Given the description of an element on the screen output the (x, y) to click on. 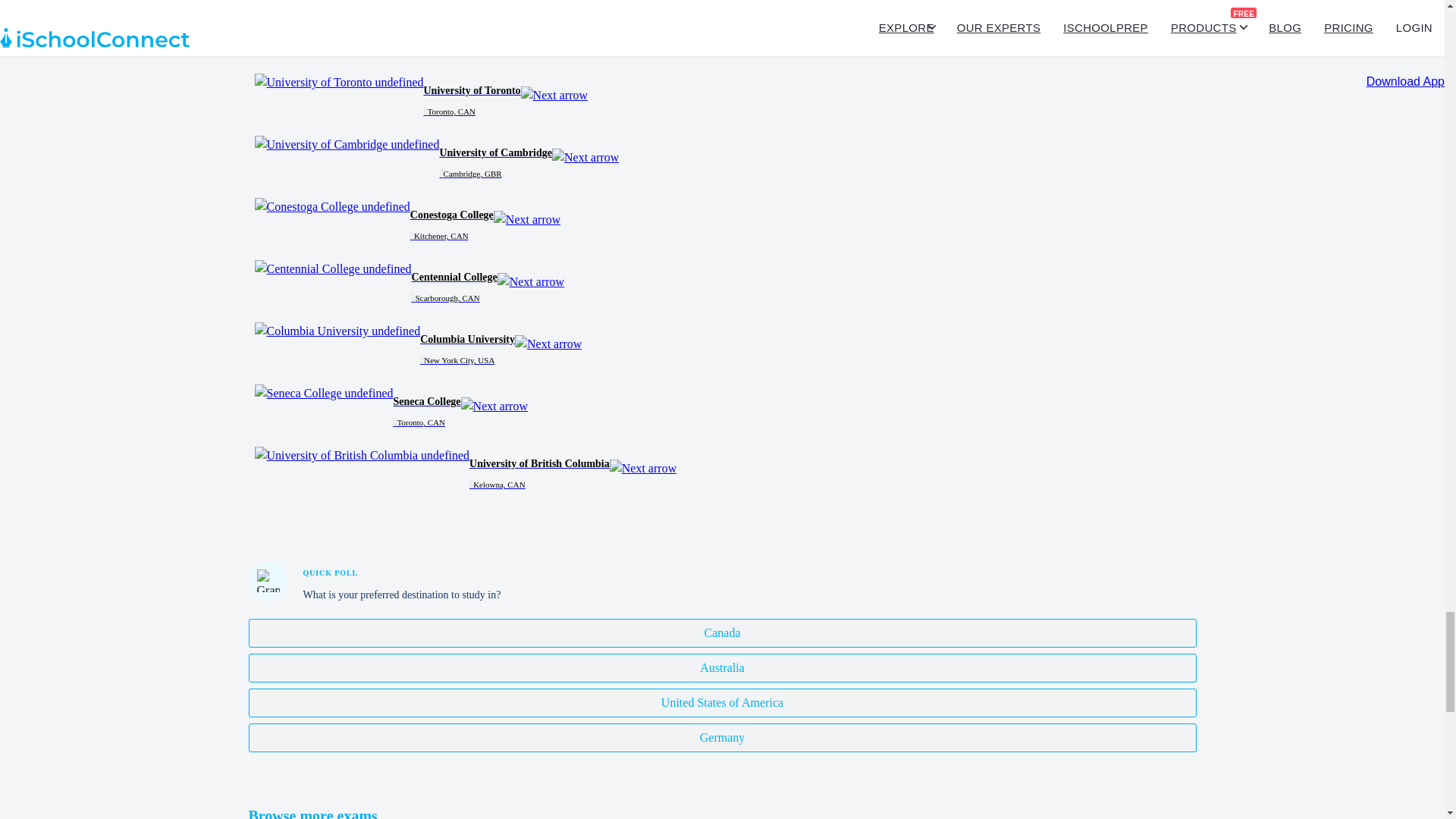
Centennial College (333, 269)
Seneca College (323, 393)
University of British Columbia (362, 455)
Stanford University (334, 20)
Conestoga College (332, 207)
University of Toronto (338, 82)
Columbia University (337, 331)
University of Cambridge (346, 144)
